Given the description of an element on the screen output the (x, y) to click on. 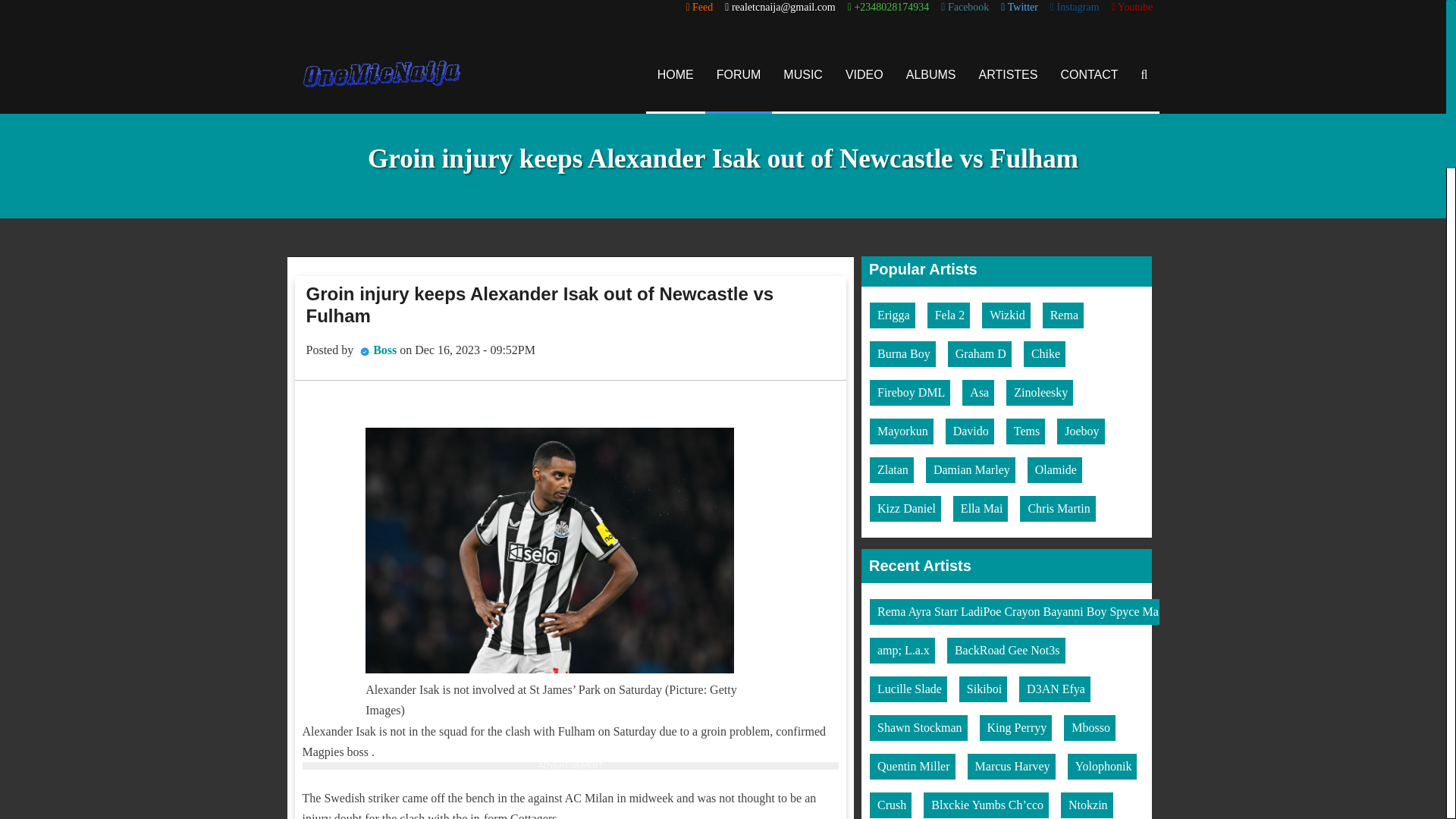
Facebook (964, 7)
Feed (699, 7)
Youtube (1132, 7)
CONTACT (1088, 74)
Boss (384, 349)
ALBUMS (931, 74)
Twitter (1019, 7)
Instagram (1074, 7)
ARTISTES (1008, 74)
FORUM (738, 74)
